Given the description of an element on the screen output the (x, y) to click on. 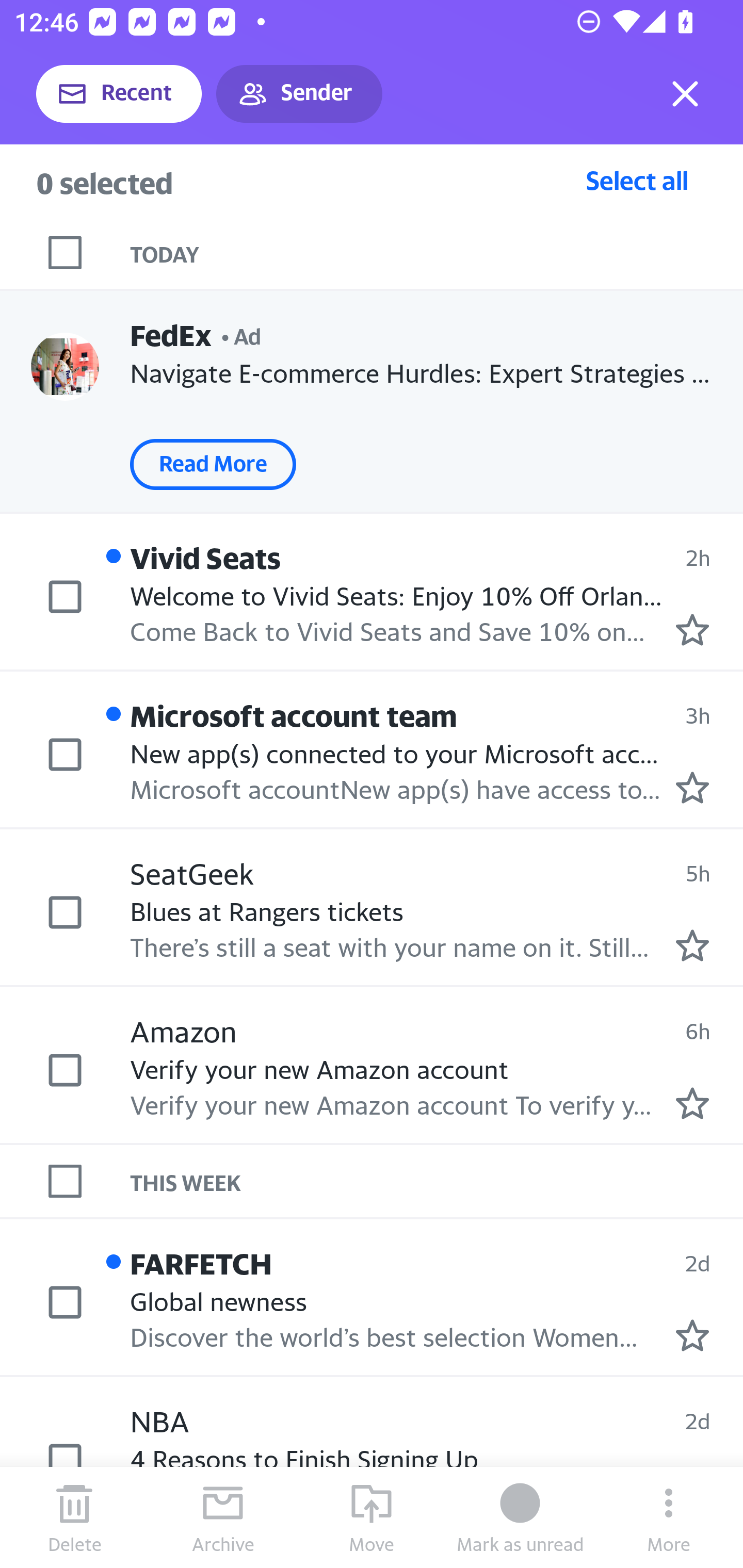
Sender (299, 93)
Exit selection mode (684, 93)
Select all (637, 180)
TODAY (436, 252)
Mark as starred. (692, 629)
Mark as starred. (692, 787)
Mark as starred. (692, 944)
Mark as starred. (692, 1103)
THIS WEEK (436, 1181)
Mark as starred. (692, 1335)
Delete (74, 1517)
Archive (222, 1517)
Move (371, 1517)
Mark as unread (519, 1517)
More (668, 1517)
